Given the description of an element on the screen output the (x, y) to click on. 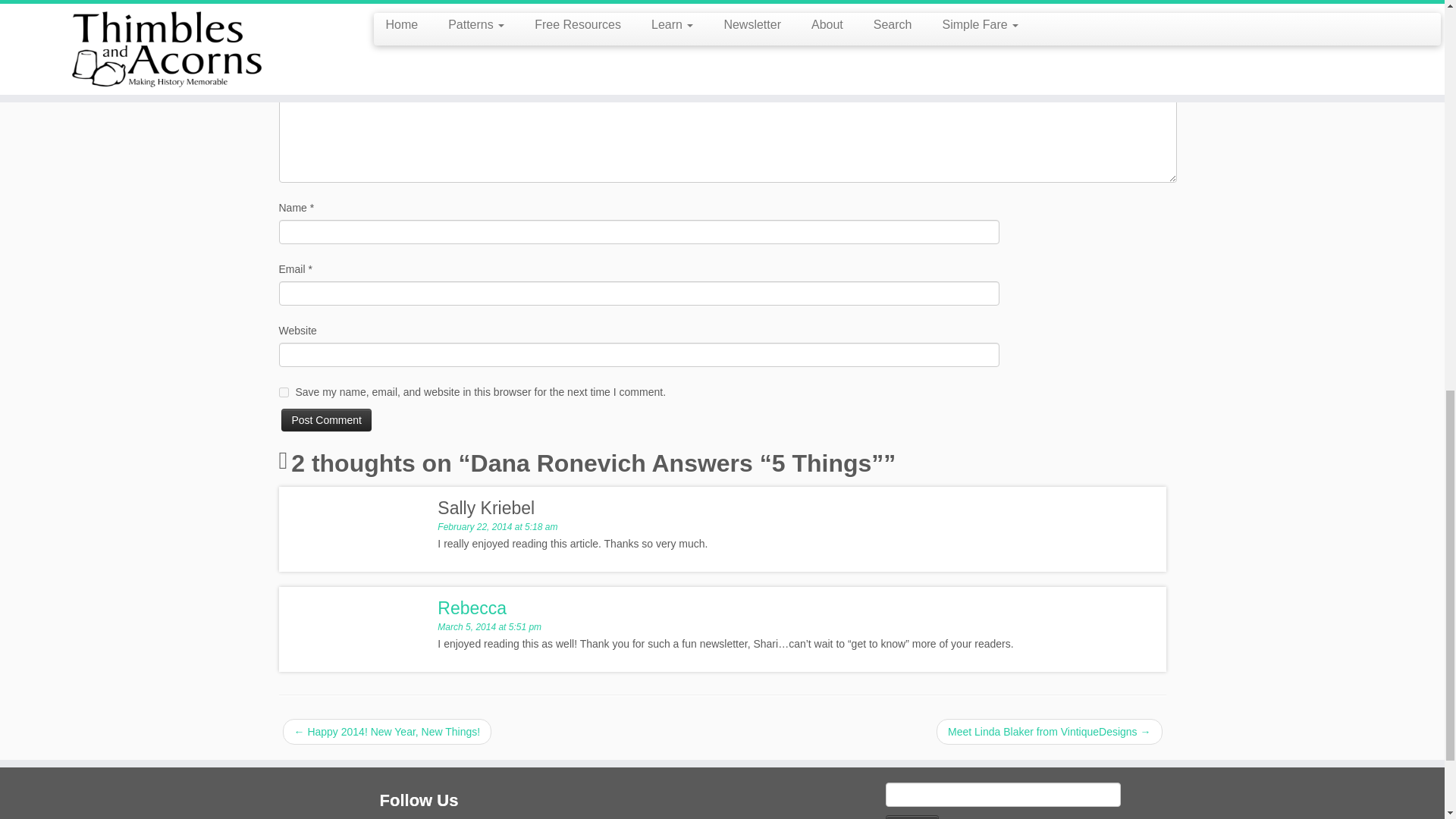
Post Comment (326, 419)
yes (283, 392)
